Given the description of an element on the screen output the (x, y) to click on. 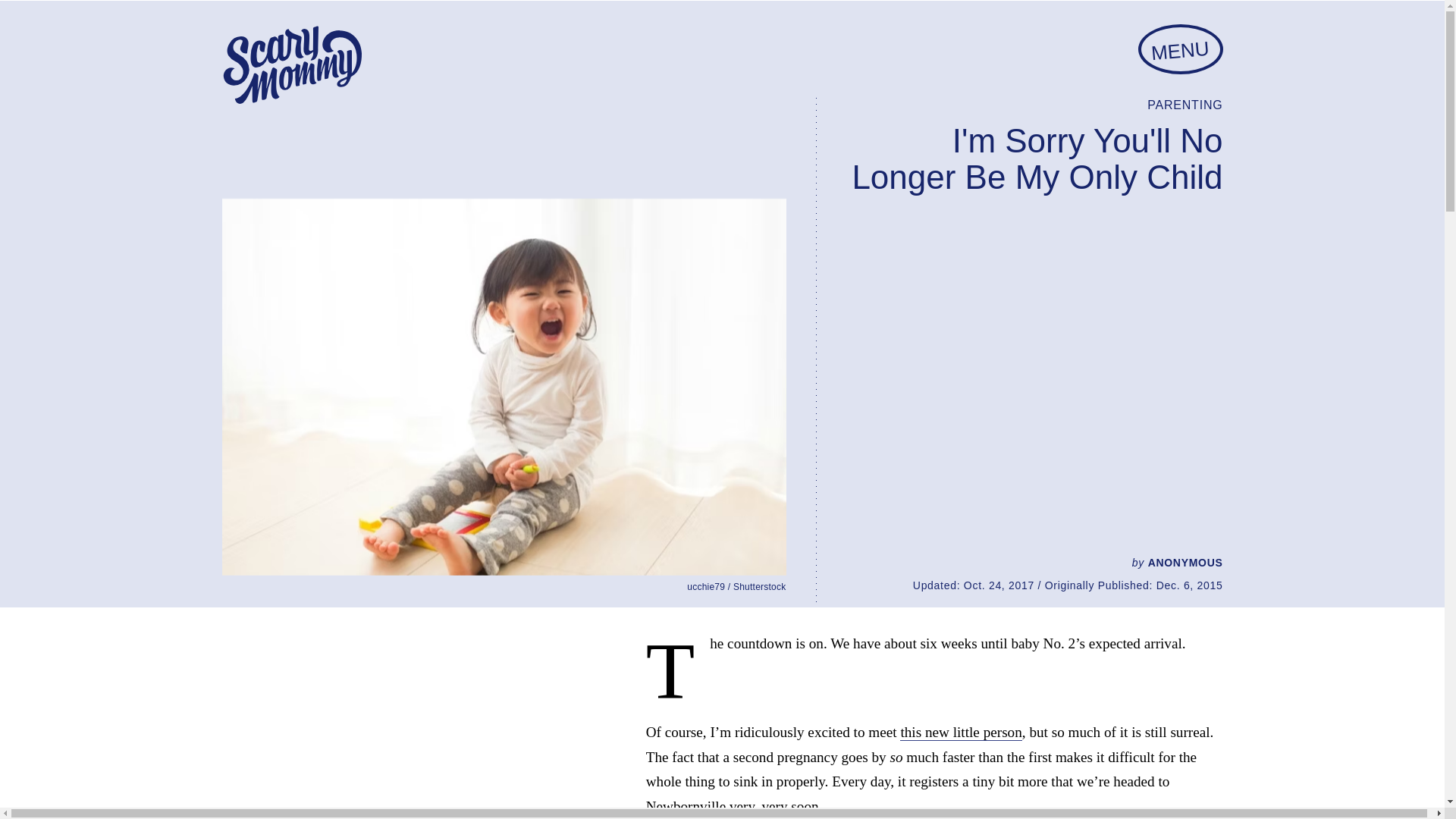
Scary Mommy (291, 64)
this new little person (960, 732)
